Given the description of an element on the screen output the (x, y) to click on. 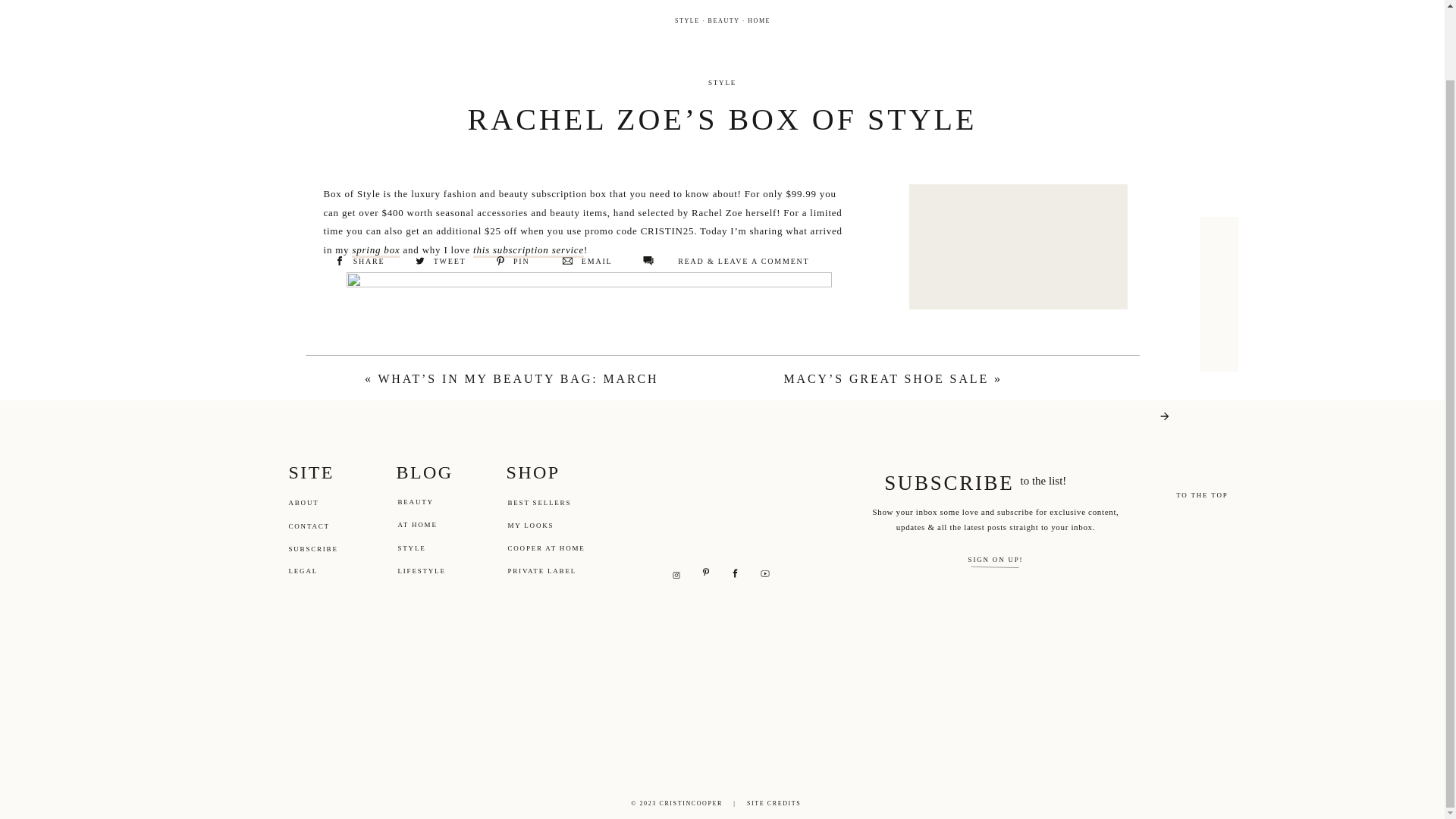
I'M CRISTIN (1017, 446)
spring box (375, 250)
INSTAGRAM (962, 529)
FACEBOOK (962, 497)
SHOP LTK (1071, 529)
STYLE (721, 82)
this subscription service (528, 250)
PINTEREST (1071, 497)
